Given the description of an element on the screen output the (x, y) to click on. 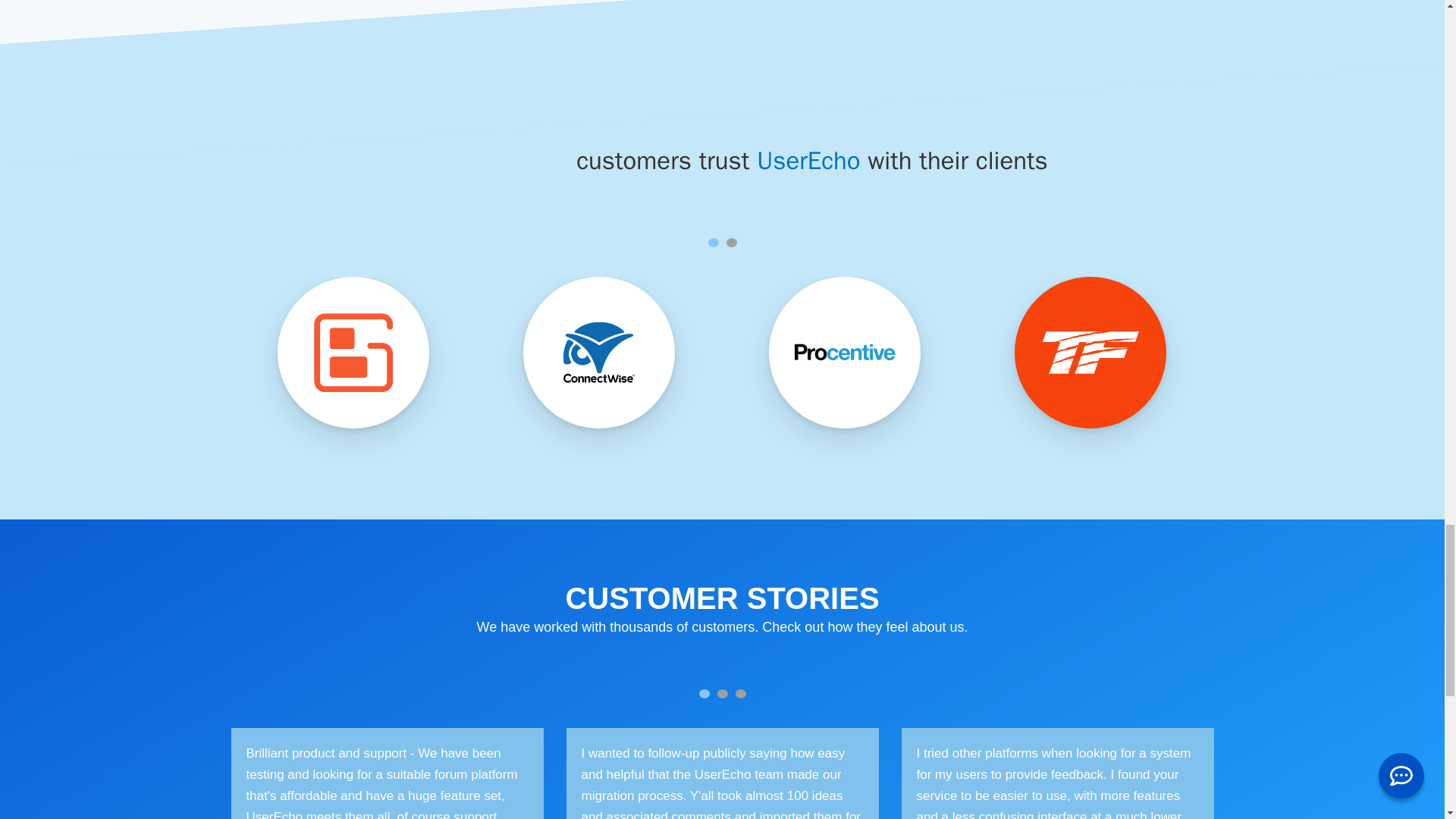
UserEcho (808, 160)
